Given the description of an element on the screen output the (x, y) to click on. 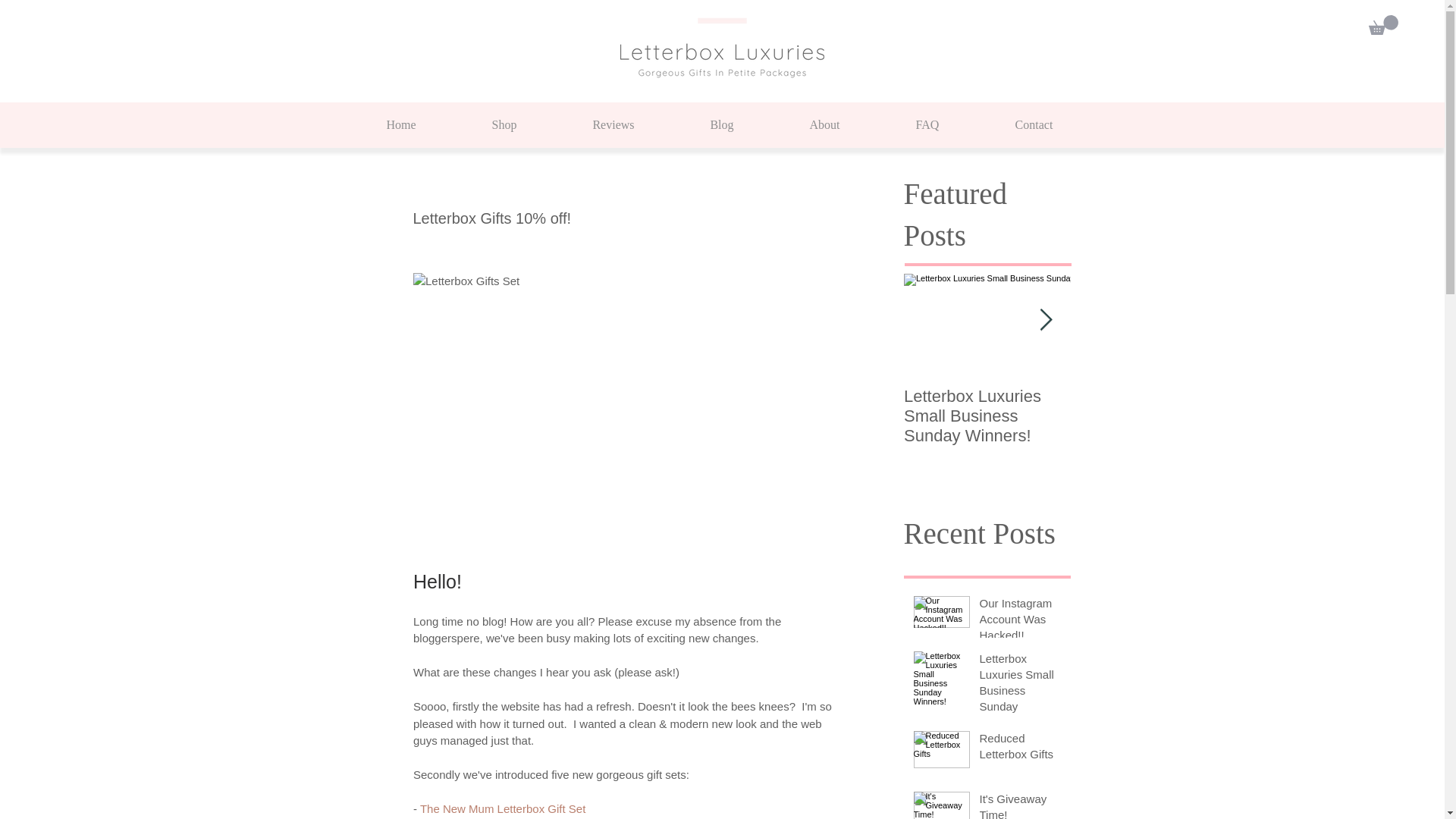
Blog (721, 125)
Home (401, 125)
Shop (503, 125)
Reduced Letterbox Gifts (1020, 749)
Letterbox Luxuries Small Business Sunday Winners! (987, 415)
Our Instagram Account Was Hacked!! (1020, 622)
Letterbox Luxuries Small Business Sunday Winners! (1020, 693)
Reviews (613, 125)
Contact (1033, 125)
About (824, 125)
